Given the description of an element on the screen output the (x, y) to click on. 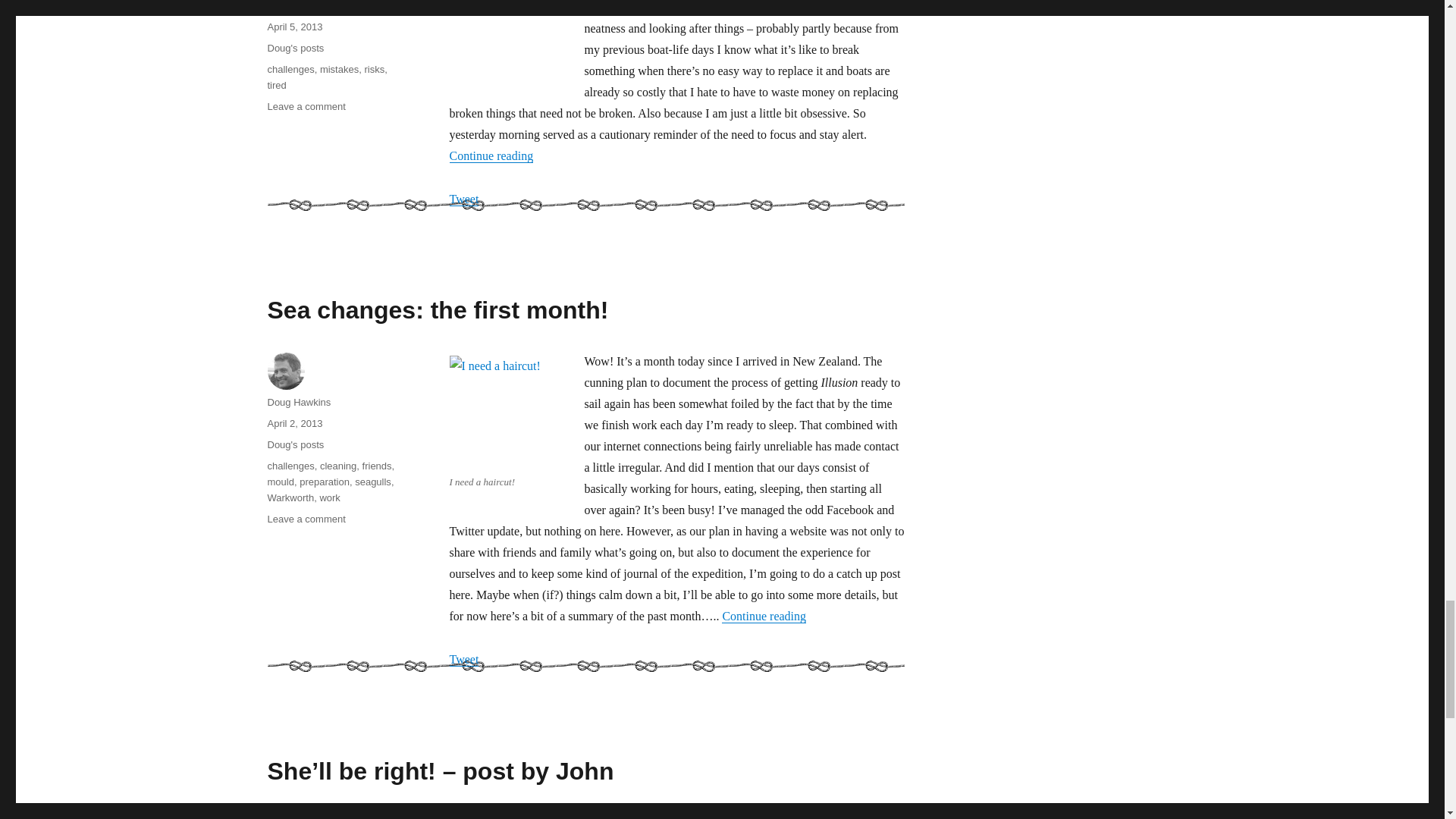
WHat kind of captain is Doug? (740, 6)
